Given the description of an element on the screen output the (x, y) to click on. 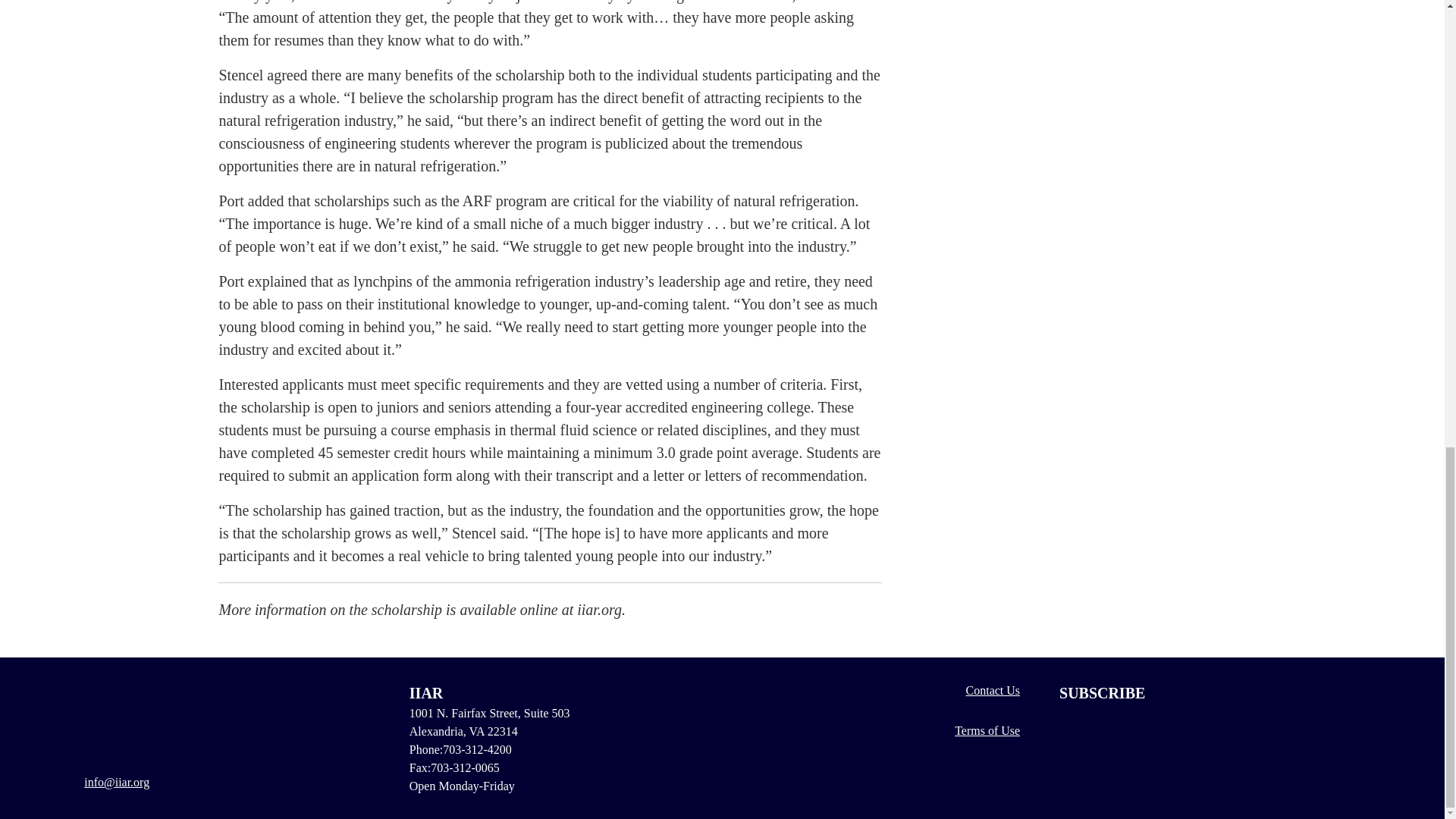
IIAR (144, 719)
